Given the description of an element on the screen output the (x, y) to click on. 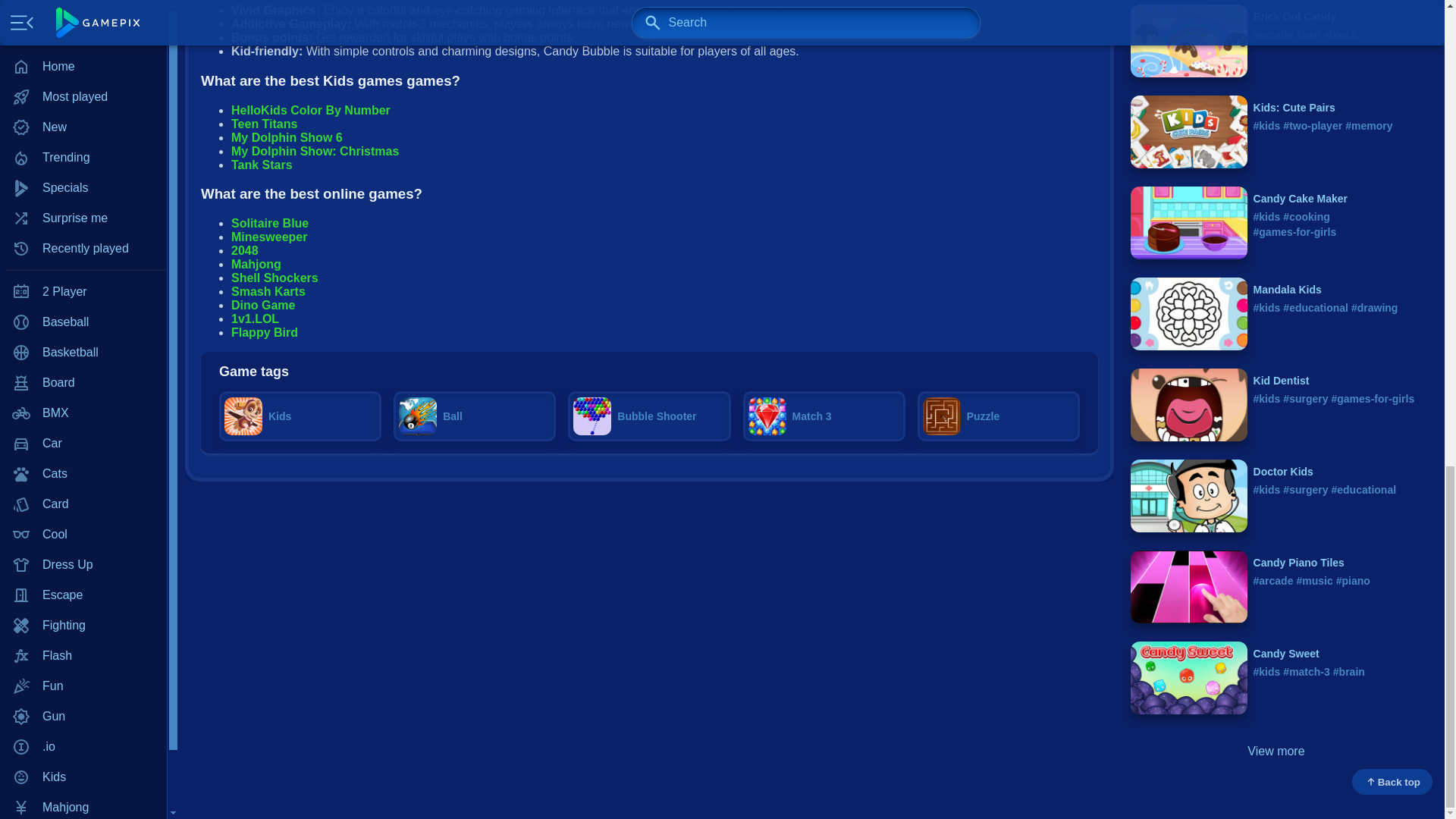
Word (83, 79)
Zombie (83, 110)
Snake (83, 2)
War (83, 49)
Soccer (83, 19)
